Given the description of an element on the screen output the (x, y) to click on. 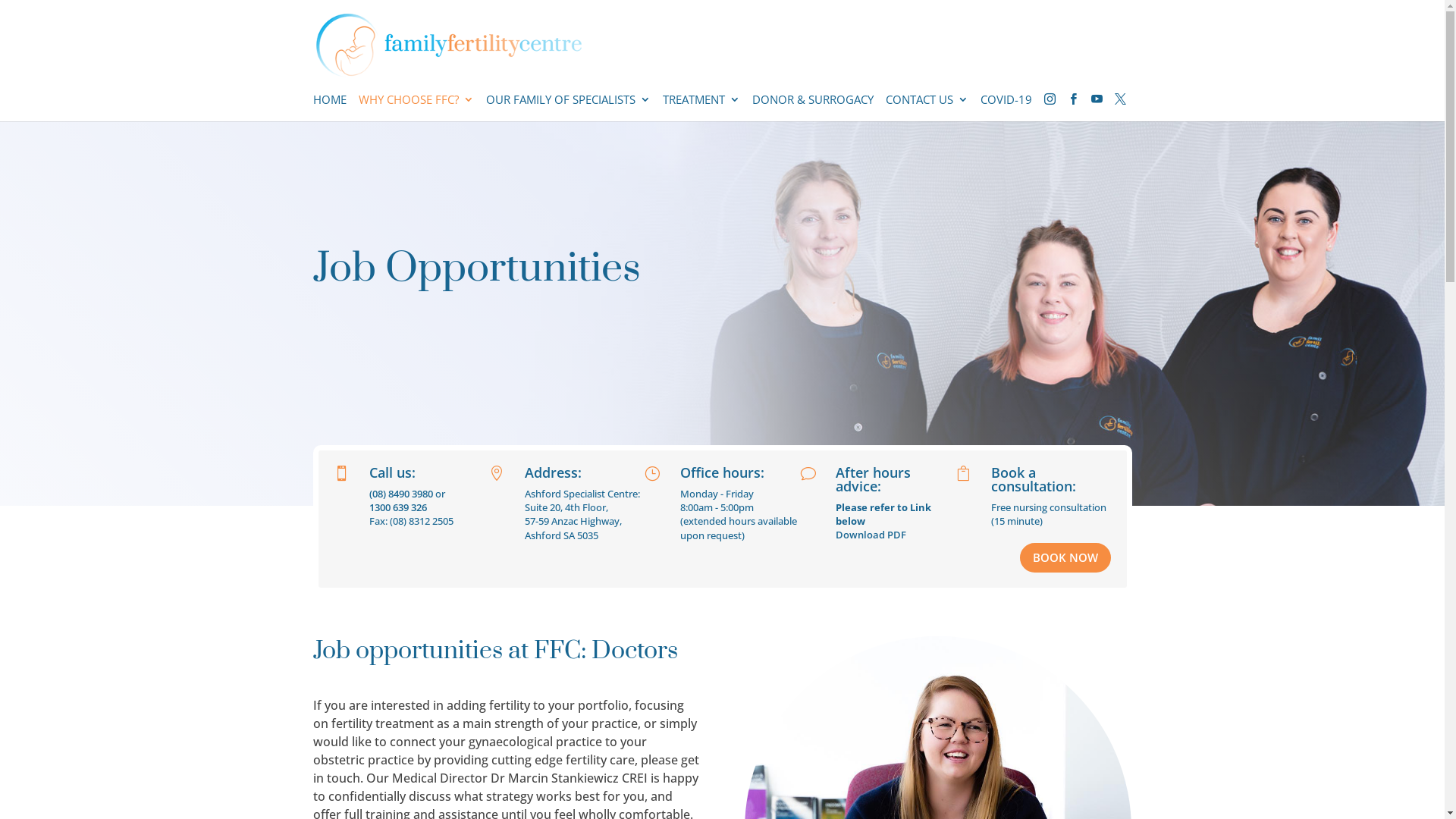
COVID-19 Element type: text (1005, 107)
HOME Element type: text (328, 107)
1300 639 326 Element type: text (397, 507)
TREATMENT Element type: text (701, 107)
BOOK NOW Element type: text (1064, 557)
OUR FAMILY OF SPECIALISTS Element type: text (567, 107)
Download PDF Element type: text (870, 534)
(08) 8490 3980 Element type: text (400, 493)
WHY CHOOSE FFC? Element type: text (415, 107)
DONOR & SURROGACY Element type: text (812, 107)
CONTACT US Element type: text (926, 107)
